Given the description of an element on the screen output the (x, y) to click on. 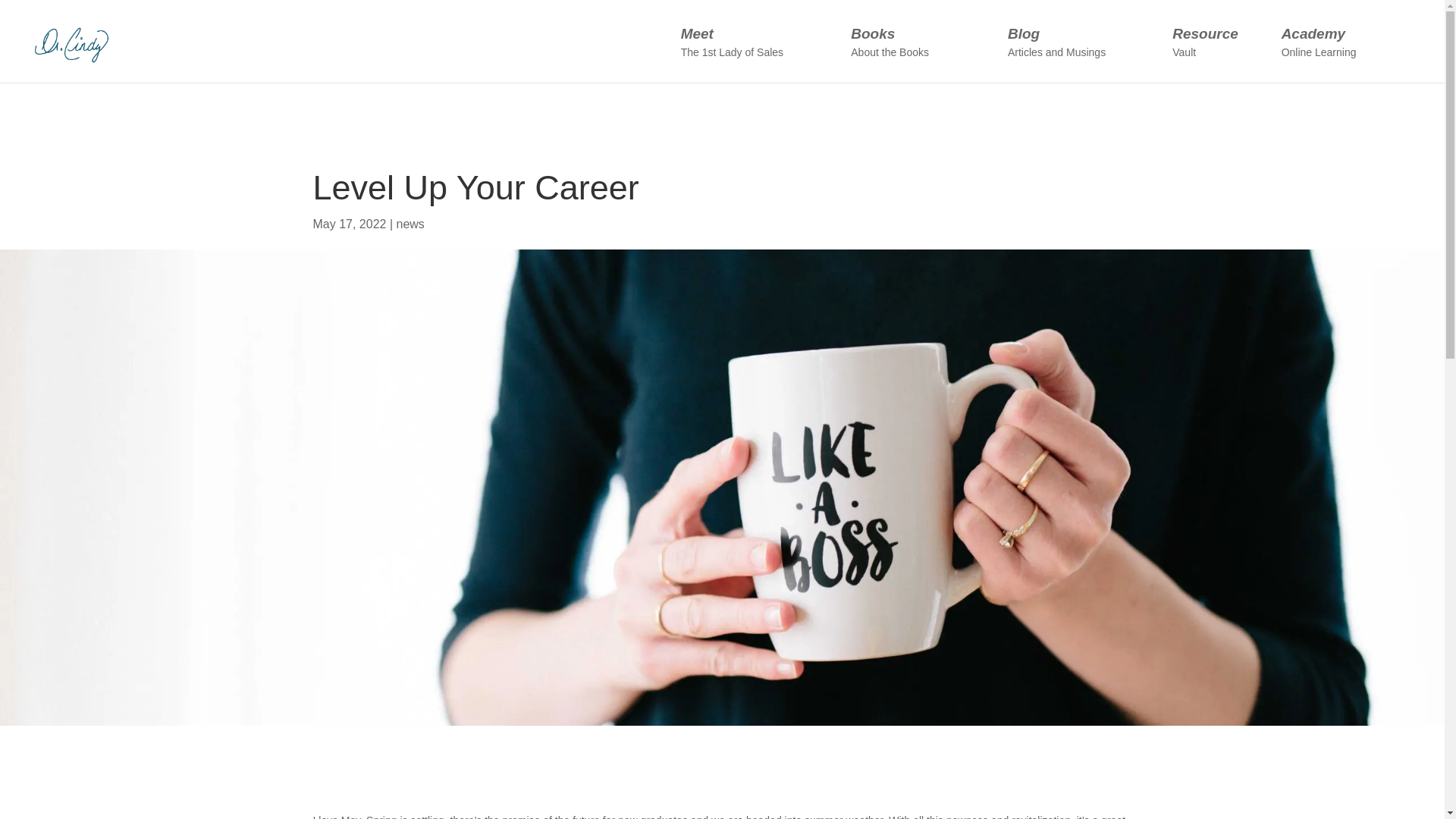
news (756, 53)
